Given the description of an element on the screen output the (x, y) to click on. 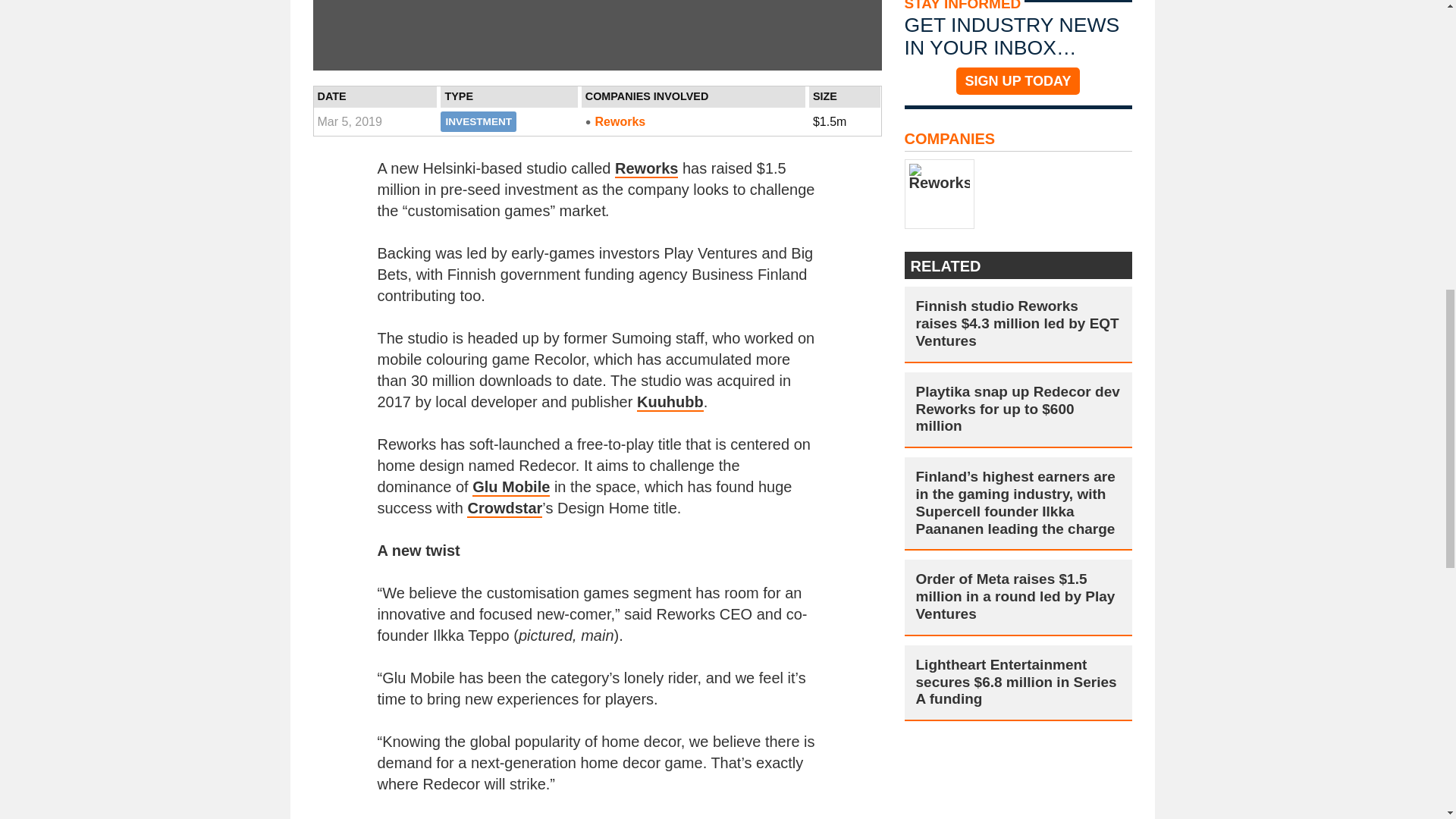
Reworks (693, 121)
Kuuhubb (670, 402)
Glu Mobile (510, 487)
Crowdstar (504, 508)
Reworks (646, 168)
